Given the description of an element on the screen output the (x, y) to click on. 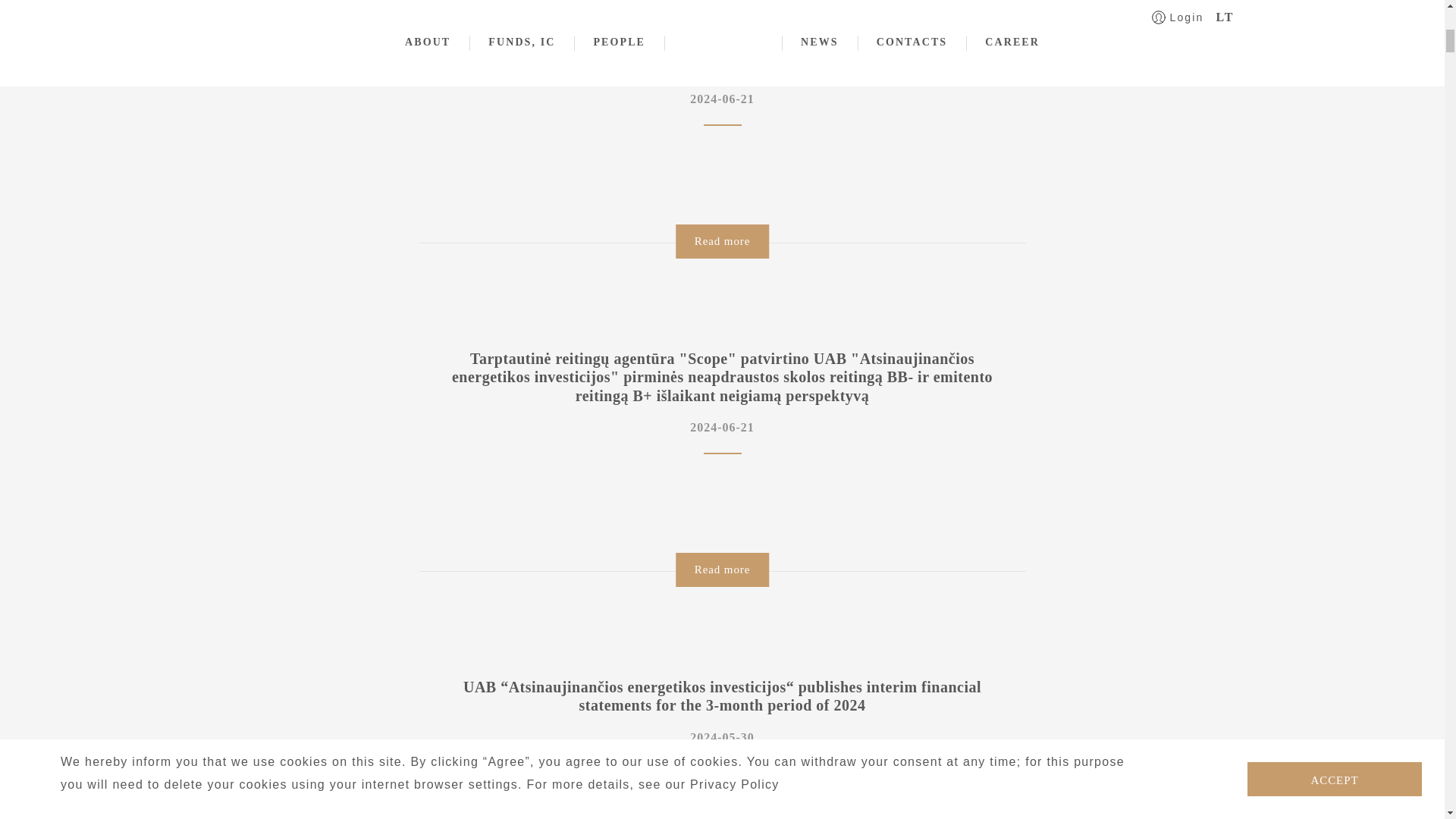
Read more (722, 569)
Read more (722, 241)
